Given the description of an element on the screen output the (x, y) to click on. 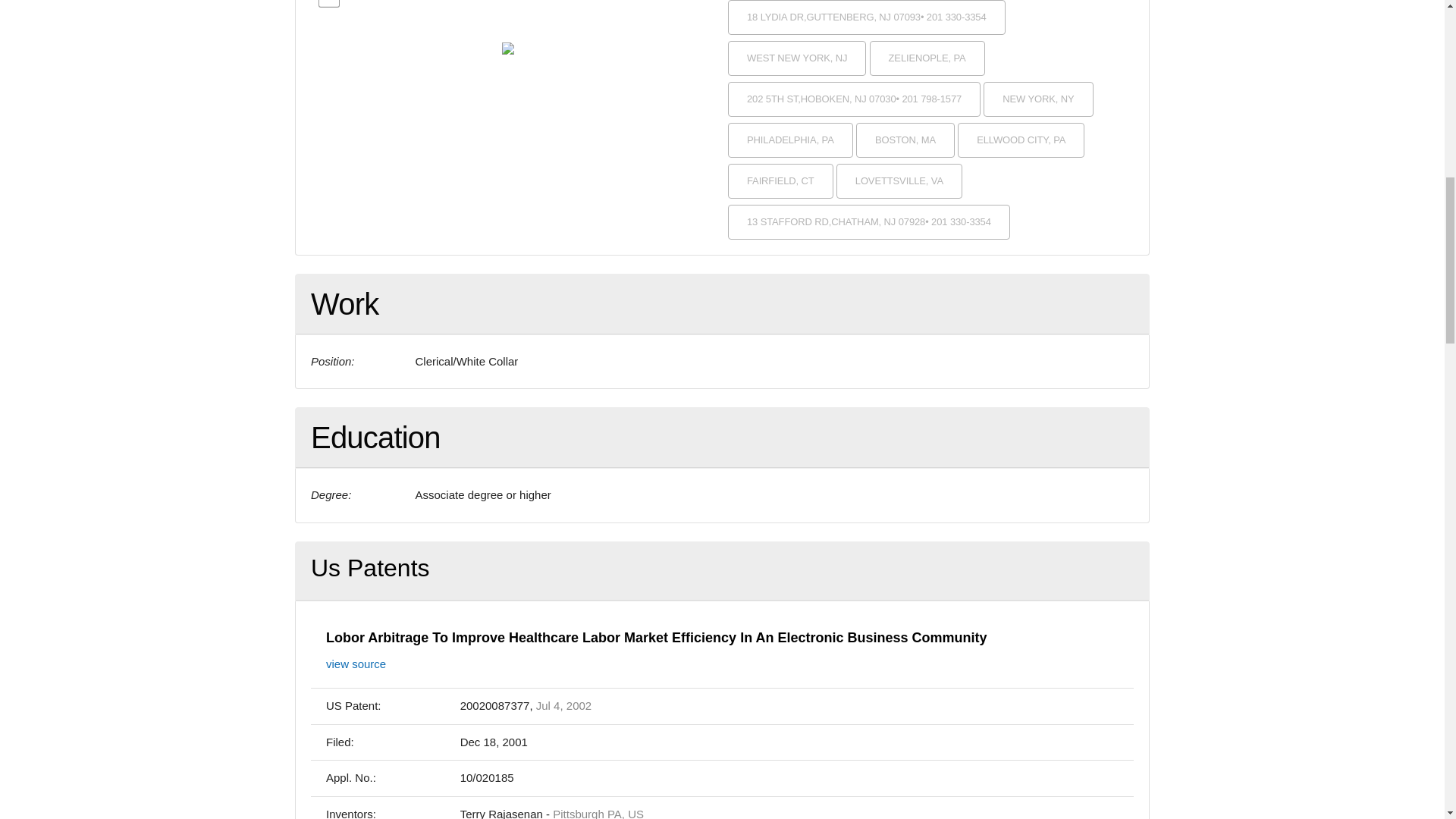
Zoom out (328, 2)
- (328, 2)
view source (355, 663)
